Given the description of an element on the screen output the (x, y) to click on. 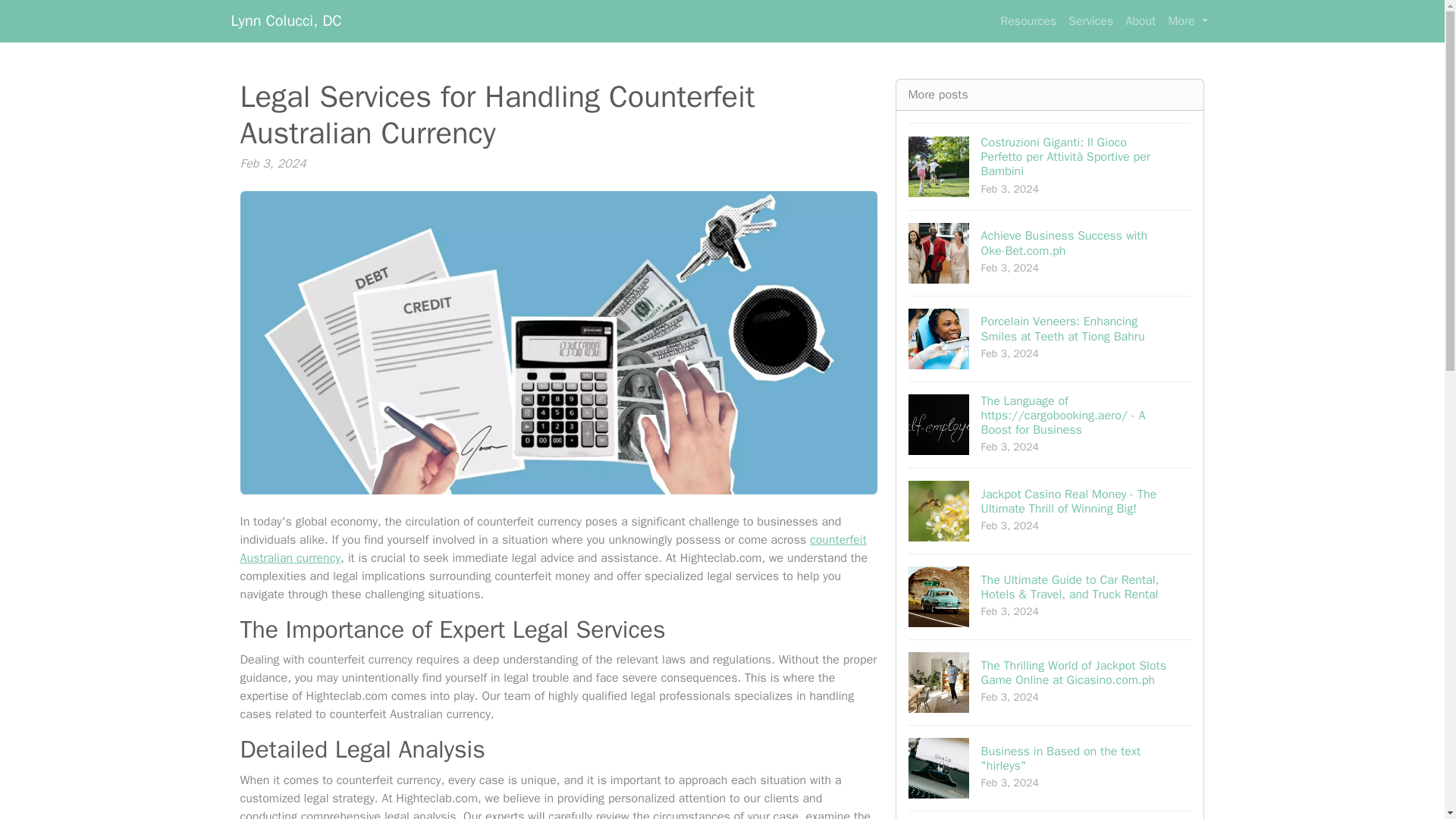
More (1186, 20)
Lynn Colucci, DC (285, 20)
Services (1050, 252)
About (1090, 20)
Resources (1140, 20)
counterfeit Australian currency (1028, 20)
